Given the description of an element on the screen output the (x, y) to click on. 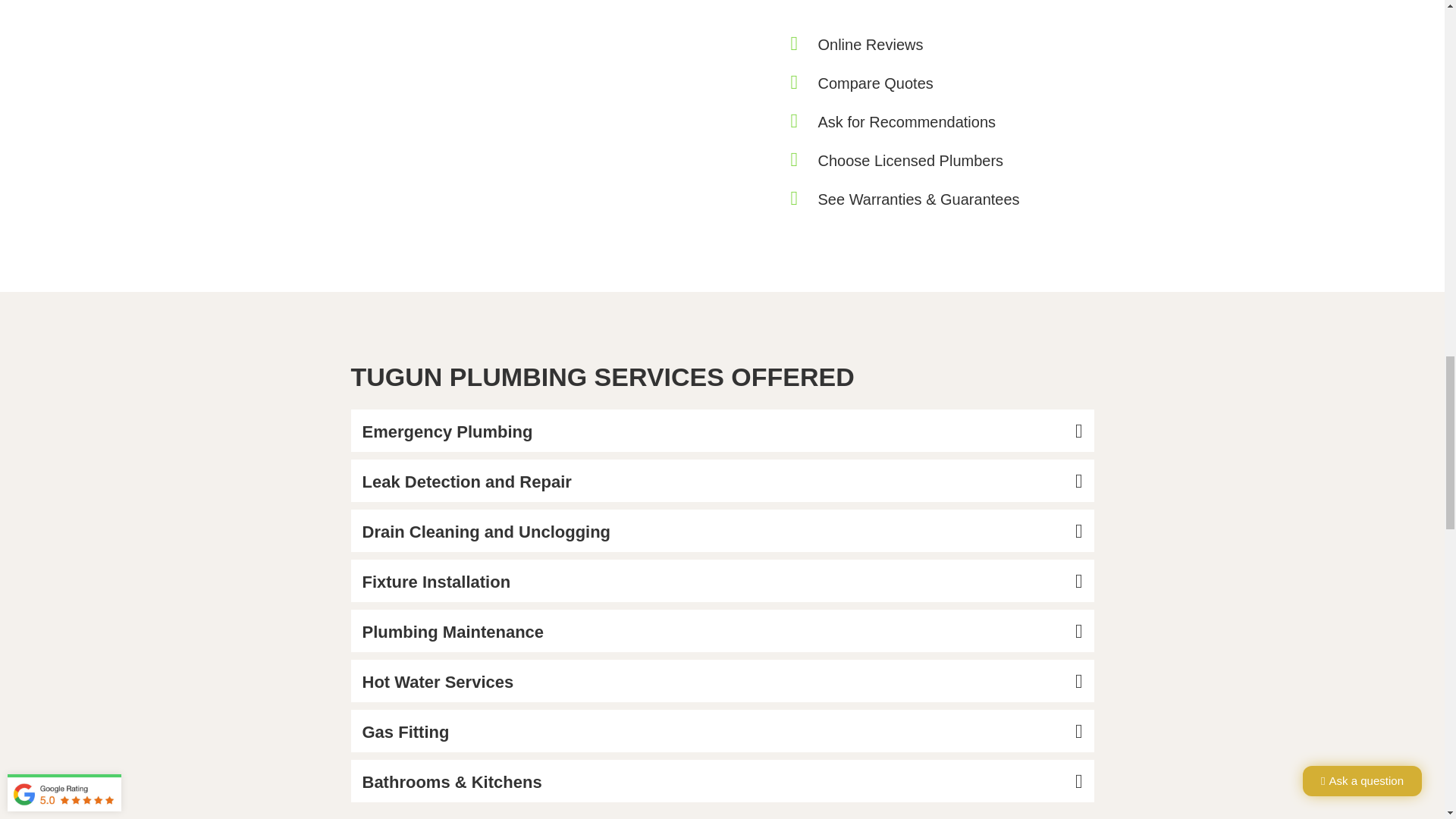
Plumbing Maintenance (453, 631)
Online Reviews (869, 44)
Ask for Recommendations (905, 121)
Fixture Installation (436, 581)
Drain Cleaning and Unclogging (486, 531)
Choose Licensed Plumbers (909, 160)
Leak Detection and Repair (467, 481)
Emergency Plumbing (447, 431)
Hot Water Services (437, 681)
Gas Fitting (405, 732)
